Given the description of an element on the screen output the (x, y) to click on. 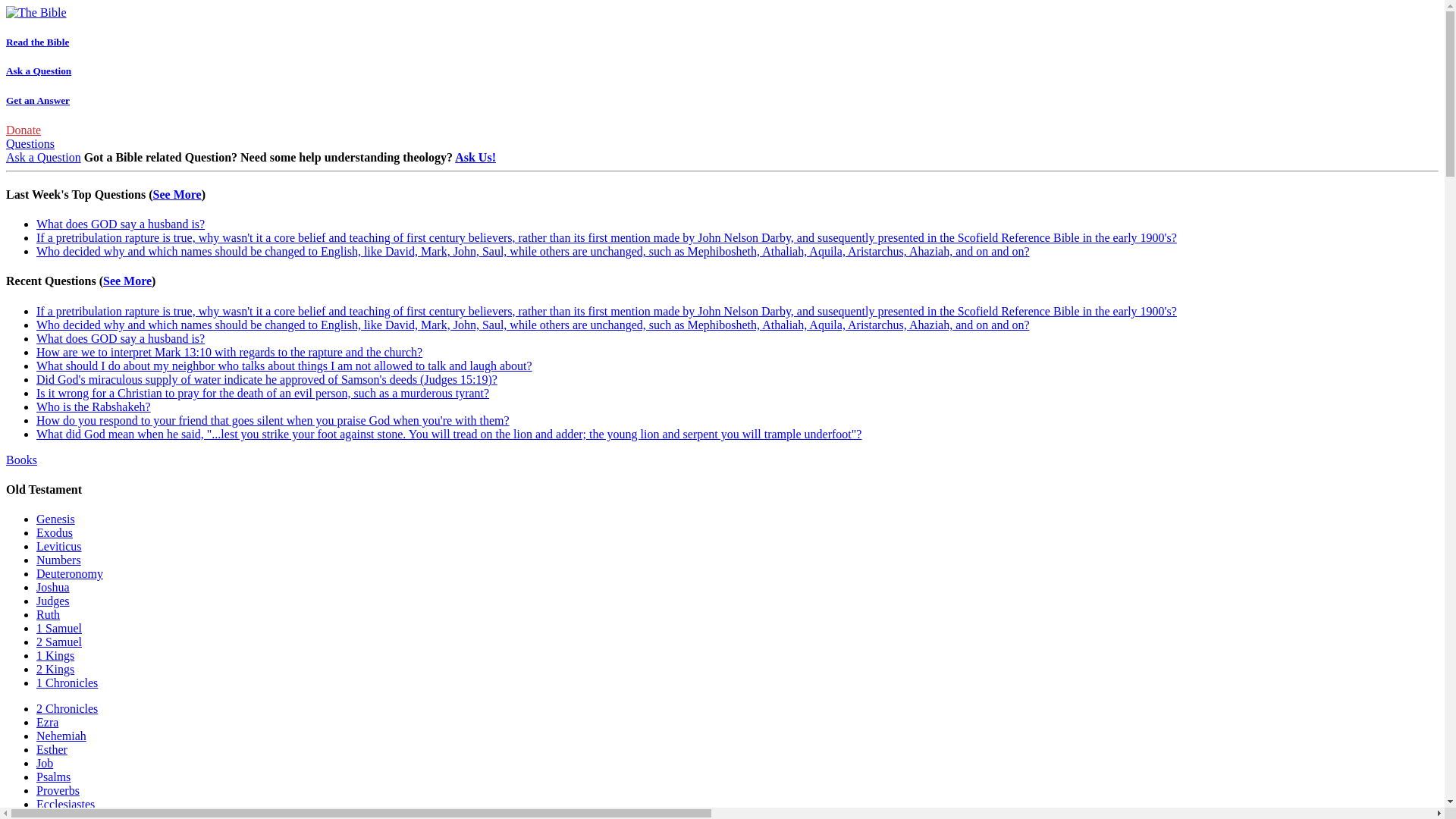
What does GOD say a husband is? (120, 338)
1 Chronicles (66, 682)
Nehemiah (60, 735)
Books (21, 459)
Exodus (54, 532)
Genesis (55, 518)
Who is the Rabshakeh? (93, 406)
Deuteronomy (69, 573)
Questions (30, 143)
Ask Us! (475, 156)
